Given the description of an element on the screen output the (x, y) to click on. 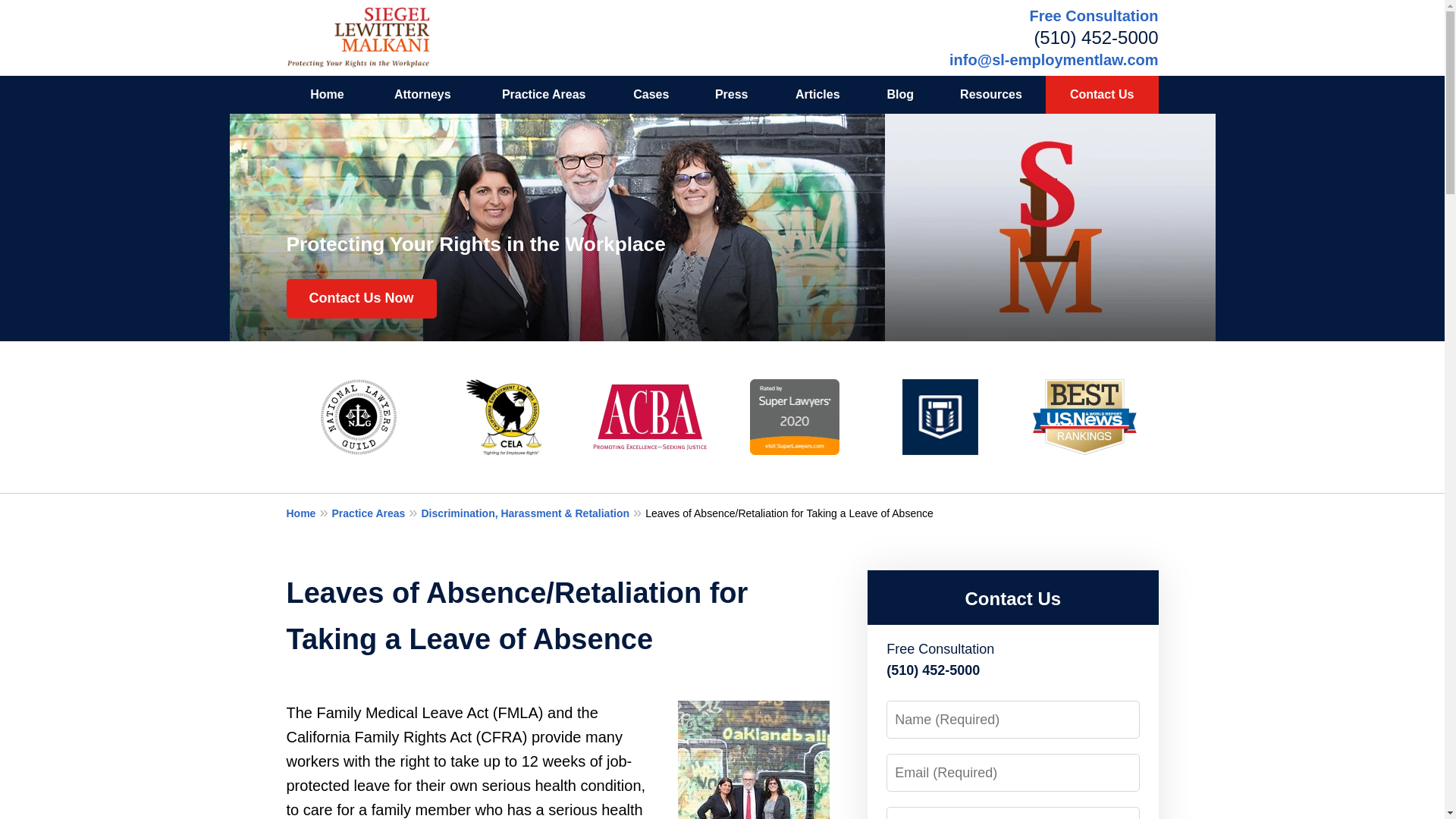
Attorneys (422, 94)
Home (327, 94)
Contact Us Now (361, 298)
Blog (899, 94)
Practice Areas (543, 94)
Practice Areas (376, 513)
Resources (990, 94)
Home (308, 513)
Press (731, 94)
Cases (650, 94)
